Given the description of an element on the screen output the (x, y) to click on. 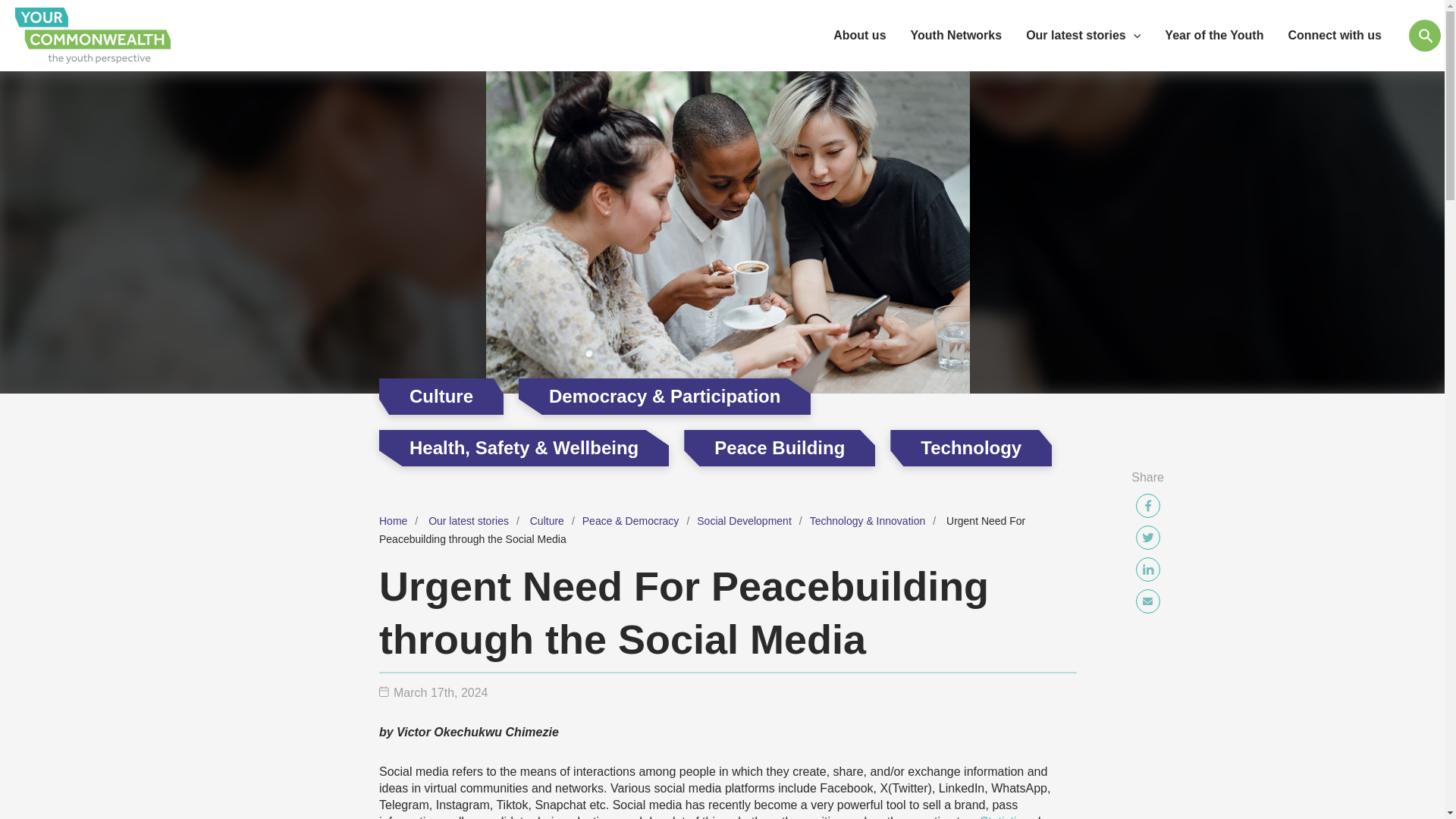
Connect with us (1334, 35)
Year of the Youth (1214, 35)
Youth Networks (956, 35)
Our latest stories (1083, 35)
About us (859, 35)
